Given the description of an element on the screen output the (x, y) to click on. 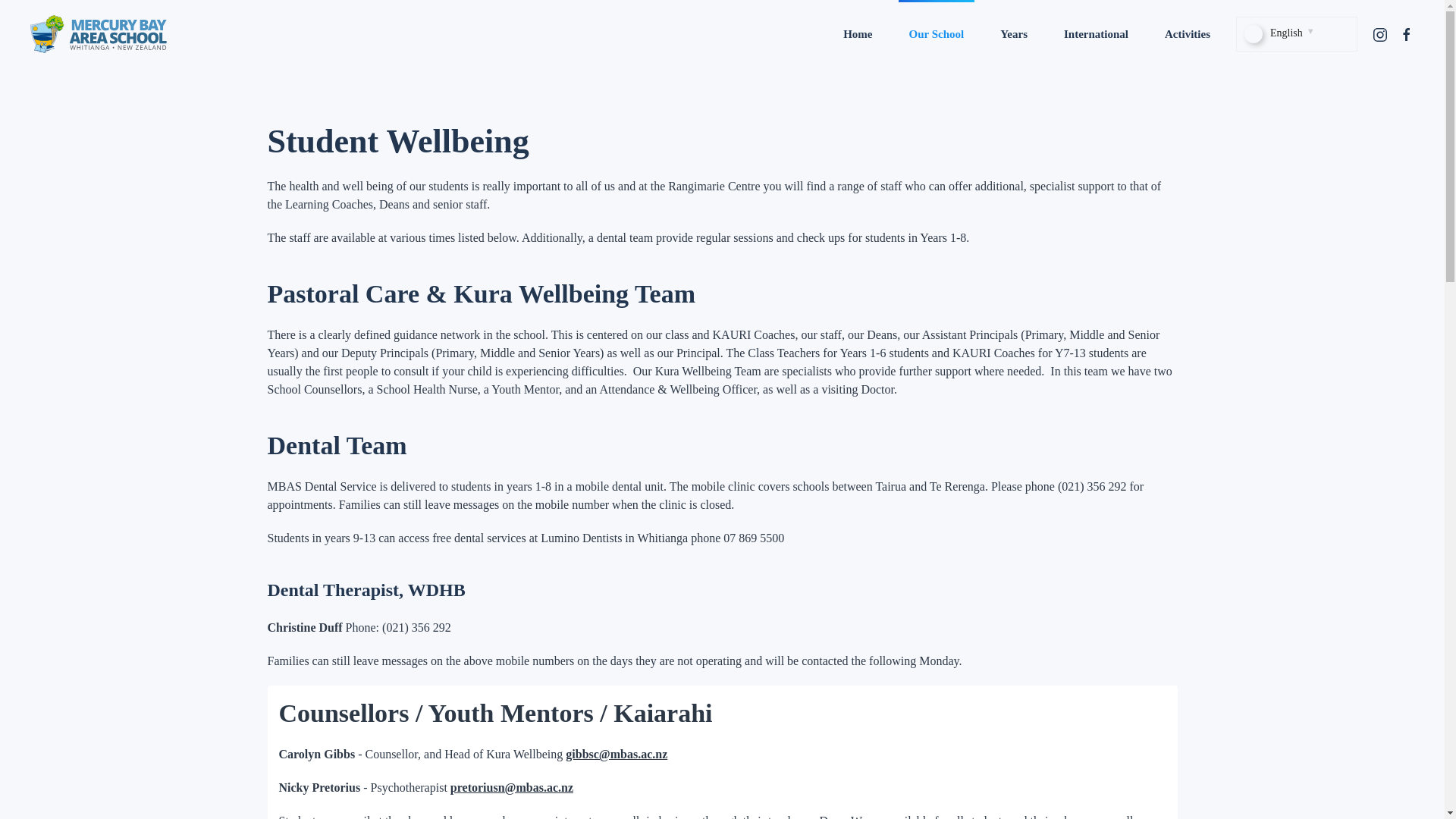
Student Wellbeing (721, 142)
